Given the description of an element on the screen output the (x, y) to click on. 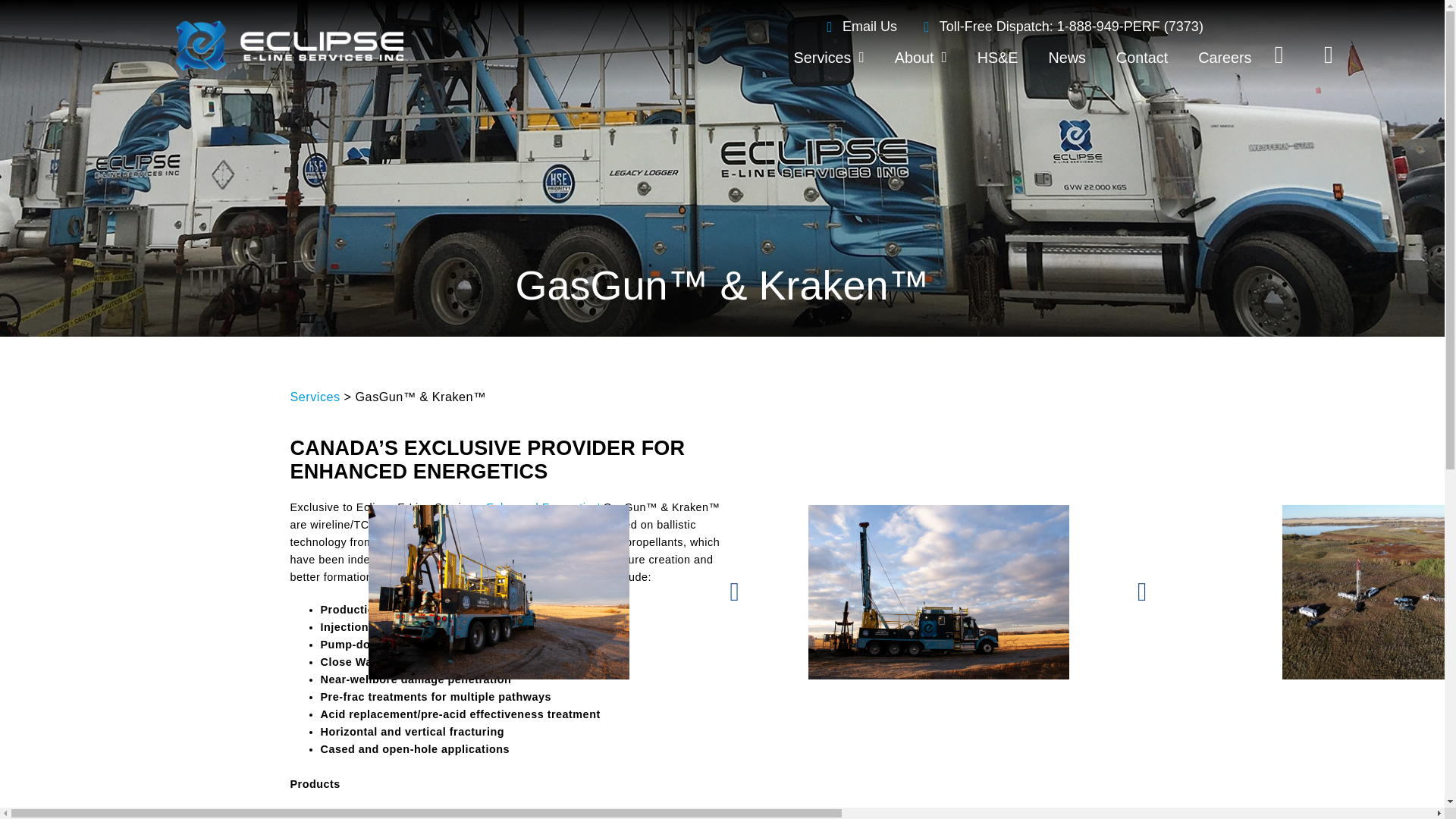
Services (314, 396)
Contact (1141, 57)
News (1066, 57)
51mm GasGun (358, 814)
Email Us (858, 26)
Careers (1224, 57)
Services (828, 57)
About (920, 57)
